Given the description of an element on the screen output the (x, y) to click on. 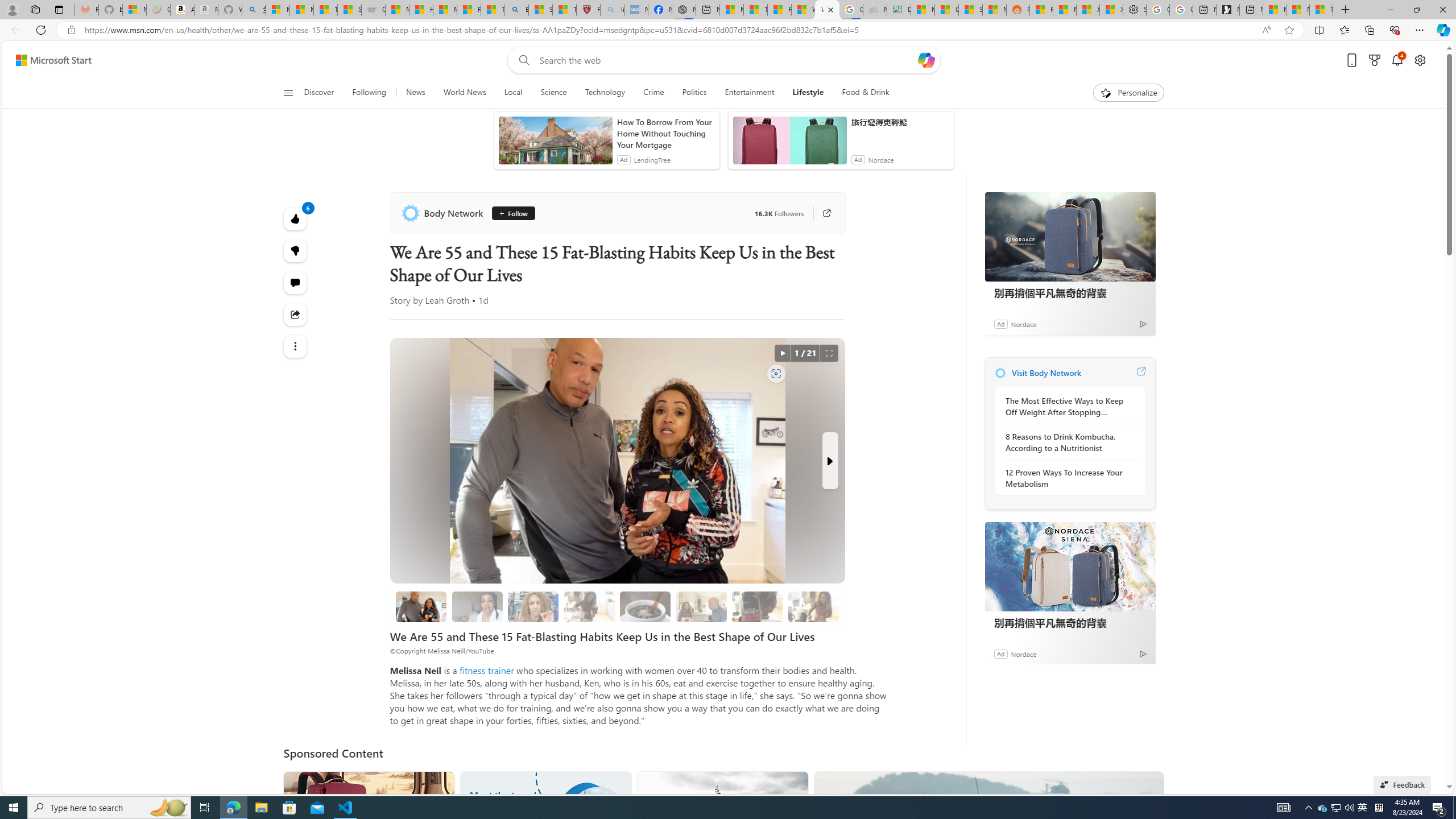
2 They Use Protein Powder for Flavor (533, 606)
8 Be Mindful of Coffee (644, 606)
Body Network (443, 212)
Visit Body Network website (1140, 372)
Robert H. Shmerling, MD - Harvard Health (588, 9)
Next Slide (829, 460)
